Given the description of an element on the screen output the (x, y) to click on. 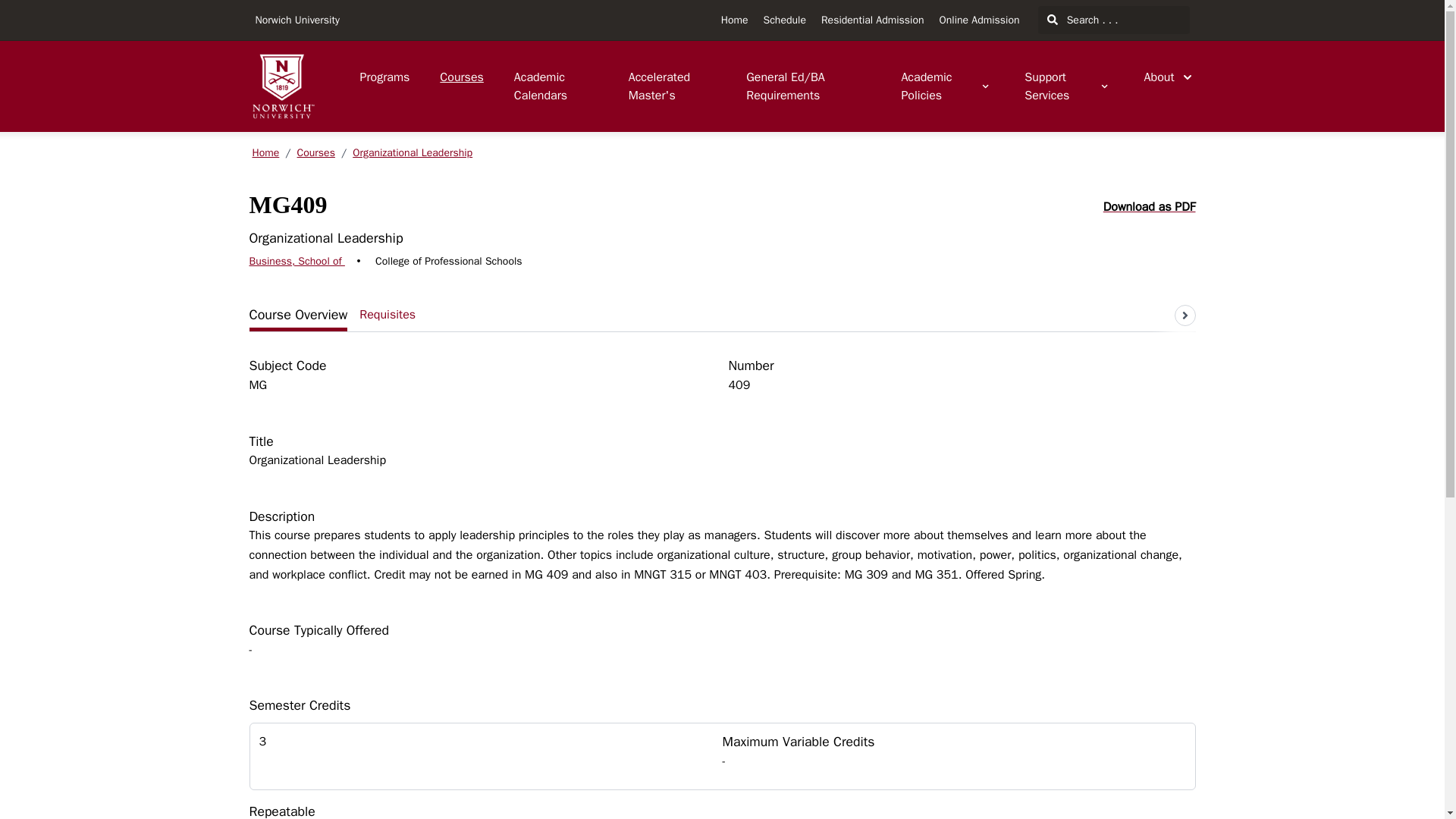
Accelerated Master's (672, 85)
Home (734, 19)
Schedule (783, 19)
About (1168, 76)
Academic Policies (944, 85)
Programs (384, 76)
Norwich University (296, 19)
Programs (384, 76)
Accelerated Master's (672, 85)
Residential Admission (872, 19)
